Given the description of an element on the screen output the (x, y) to click on. 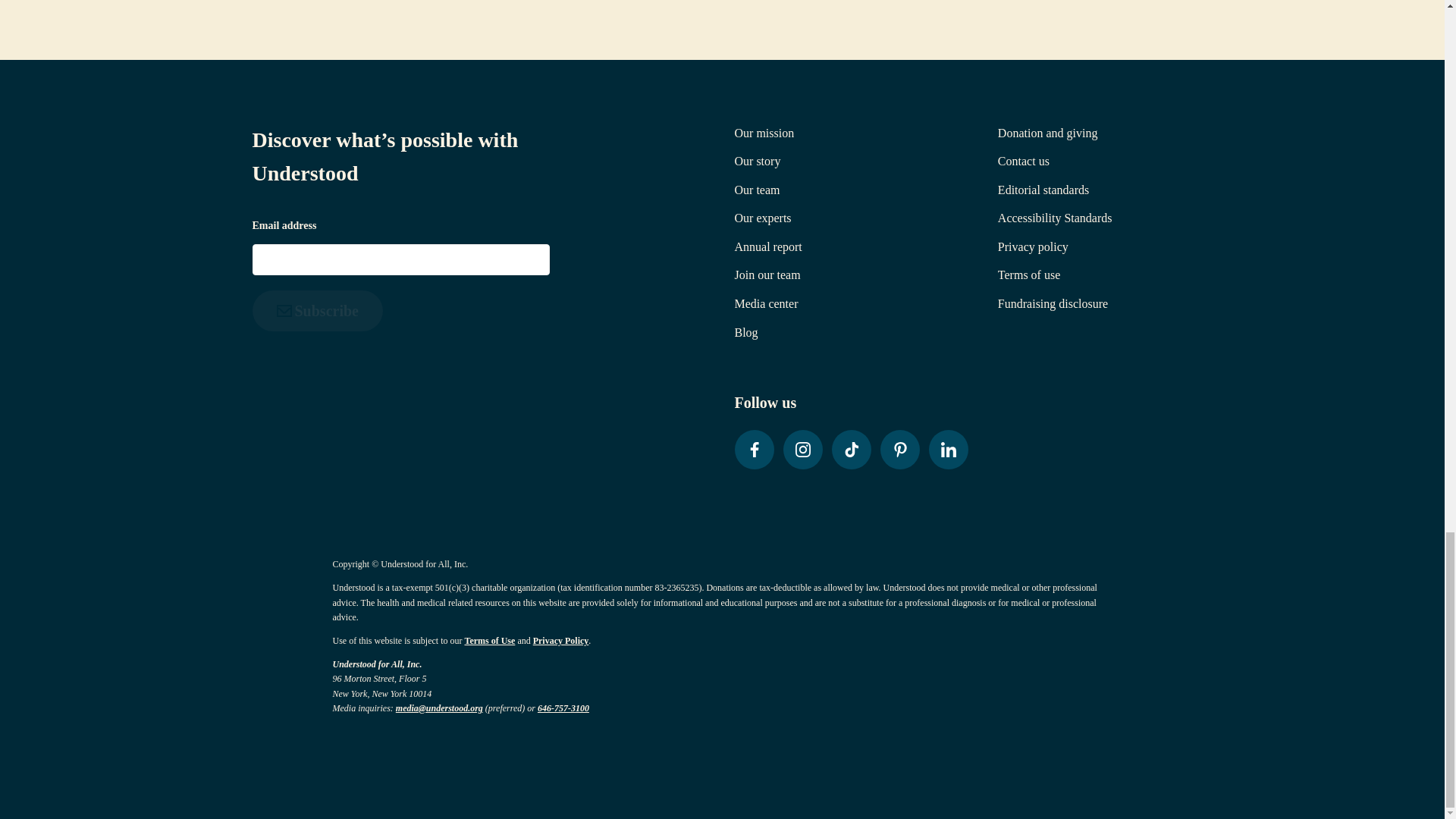
Our story (756, 160)
Instagram (802, 449)
Join our team (766, 274)
Terms of use (1028, 274)
Tiktok (850, 449)
Facebook (753, 449)
Privacy policy (1032, 246)
Annual report (767, 246)
Fundraising disclosure (1052, 303)
Blog (745, 332)
